Given the description of an element on the screen output the (x, y) to click on. 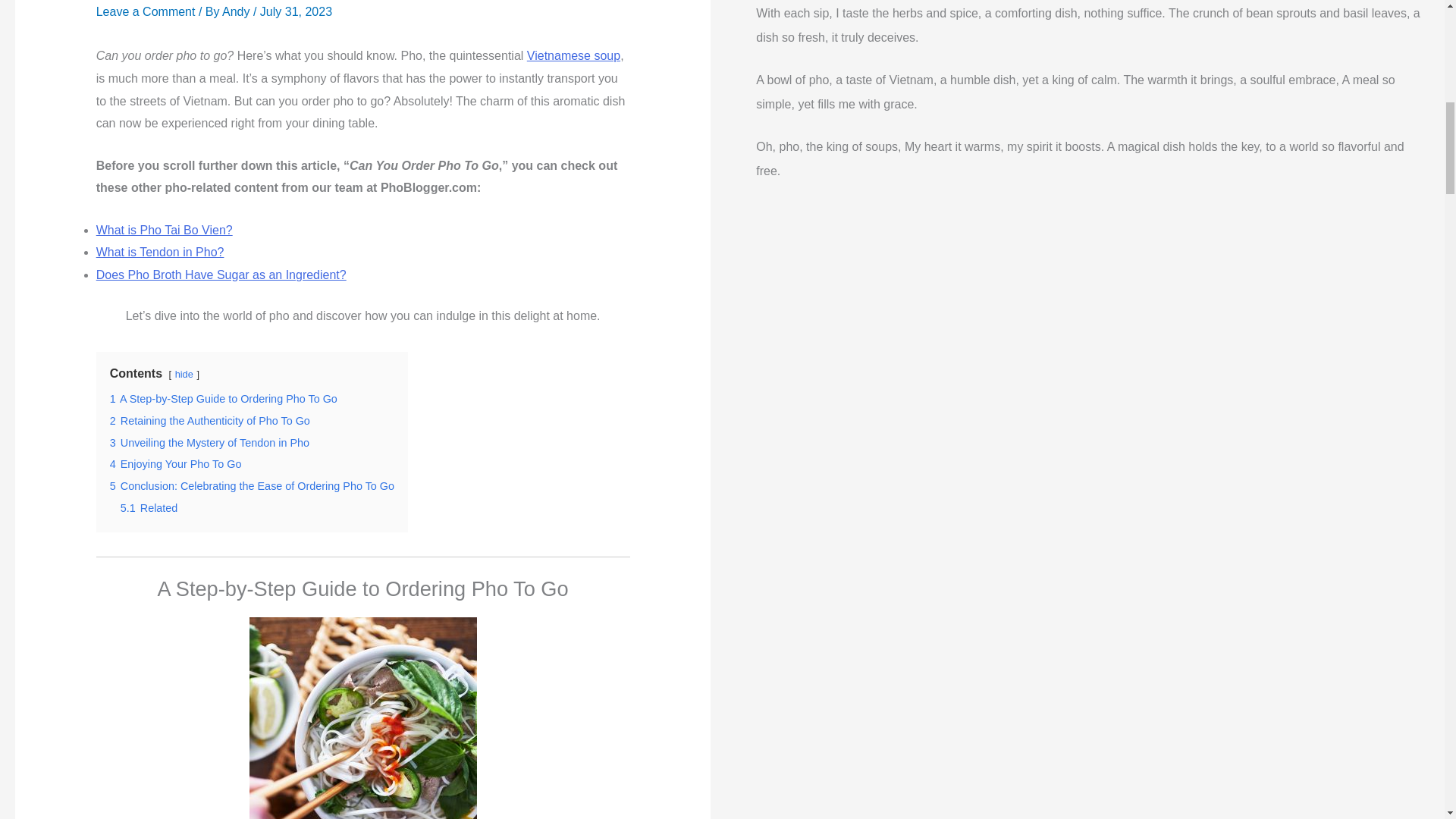
1 A Step-by-Step Guide to Ordering Pho To Go (223, 398)
Vietnamese soup (573, 55)
What is Pho Tai Bo Vien? (164, 229)
Does Pho Broth Have Sugar as an Ingredient? (221, 274)
2 Retaining the Authenticity of Pho To Go (210, 420)
4 Enjoying Your Pho To Go (175, 463)
Leave a Comment (145, 11)
View all posts by Andy (237, 11)
5 Conclusion: Celebrating the Ease of Ordering Pho To Go (252, 485)
5.1 Related (148, 508)
3 Unveiling the Mystery of Tendon in Pho (209, 442)
Andy (237, 11)
What is Tendon in Pho? (160, 251)
hide (183, 374)
